Given the description of an element on the screen output the (x, y) to click on. 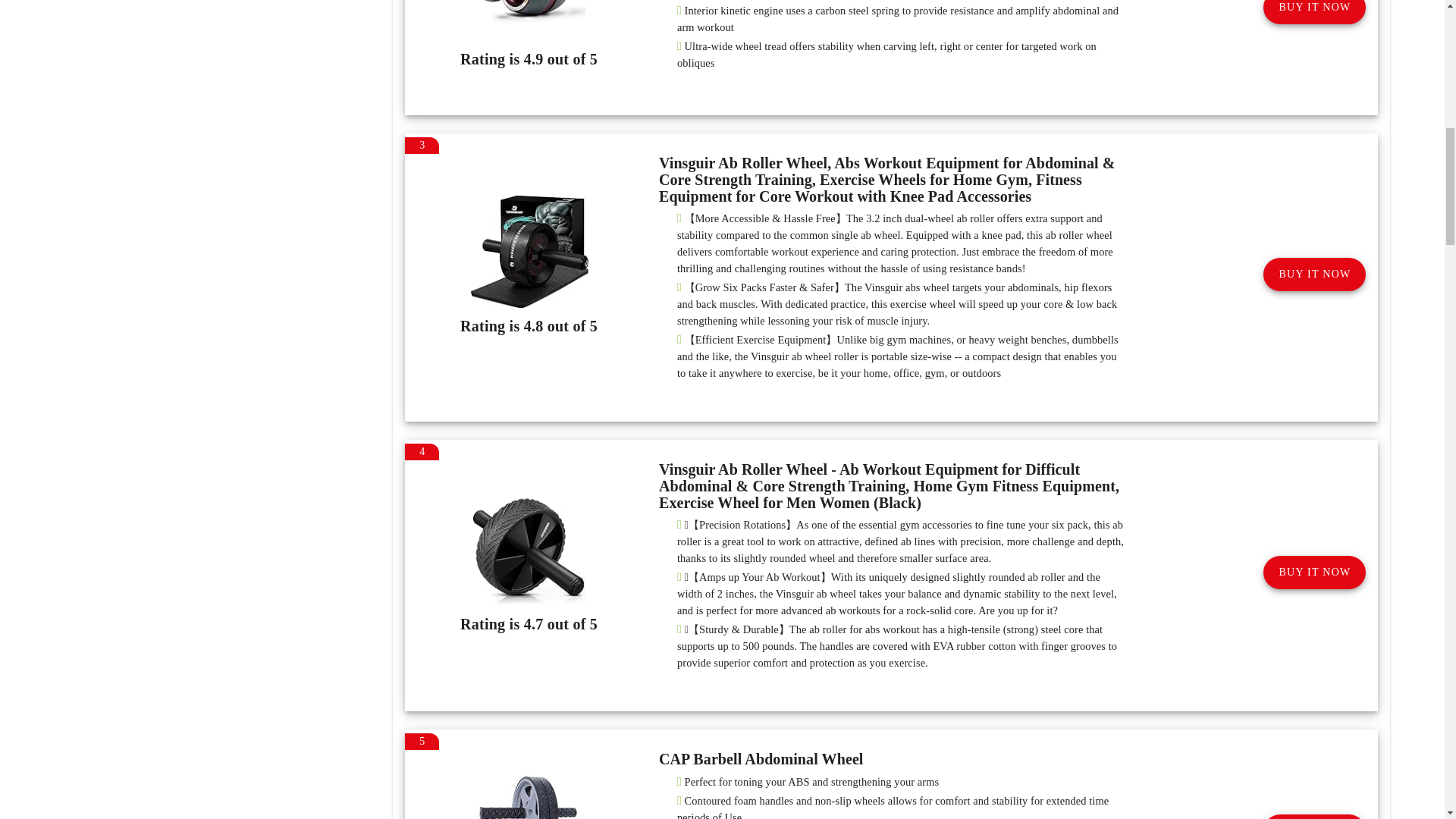
BUY IT NOW (1314, 572)
BUY IT NOW (1314, 12)
BUY IT NOW (1314, 274)
BUY IT NOW (1314, 816)
